Given the description of an element on the screen output the (x, y) to click on. 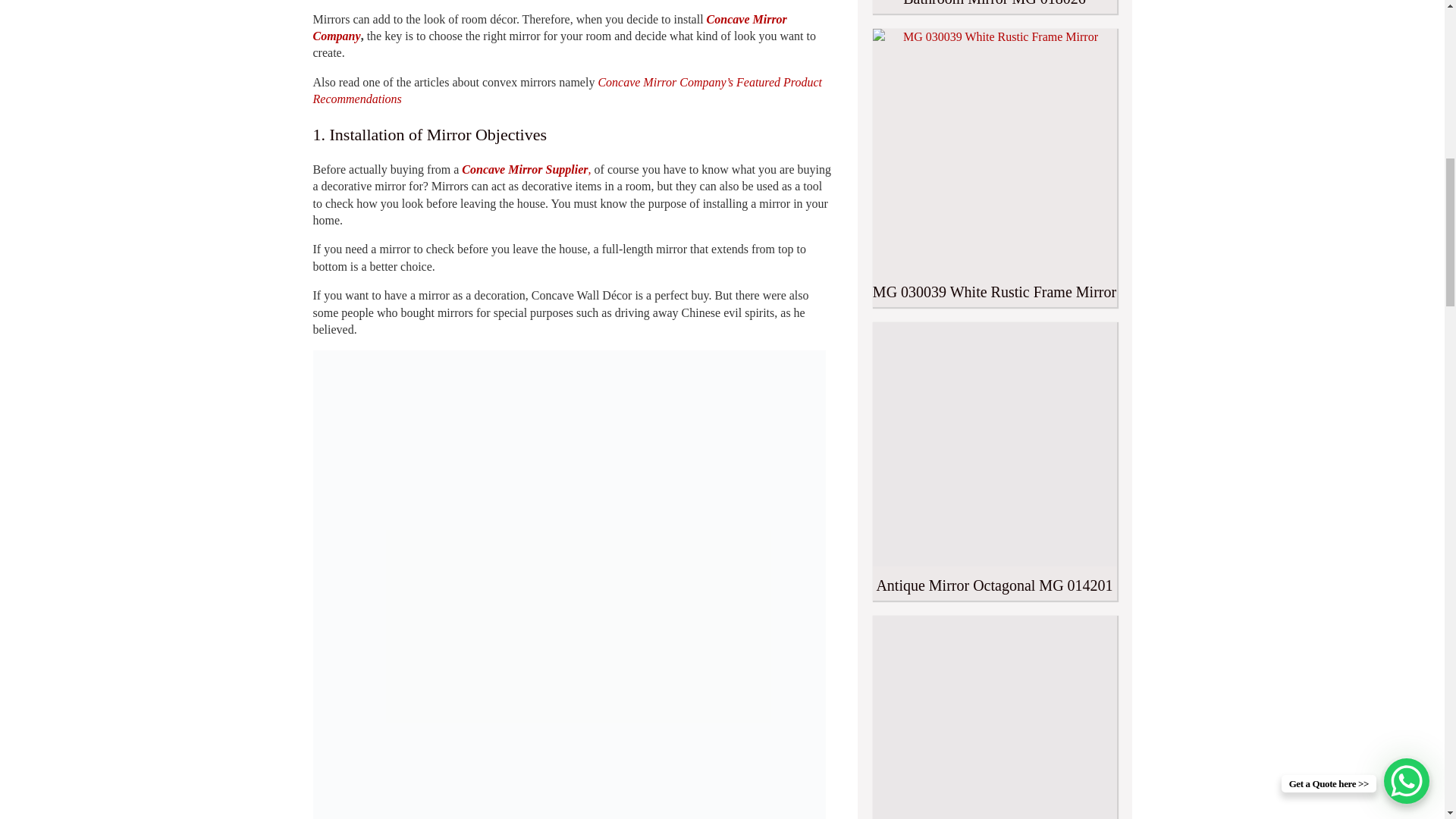
Bathroom Mirror MG 018026 (994, 6)
Concave Mirror Supplier, (526, 169)
Round Bathroom Mirror MG-018067 (994, 717)
Concave Mirror Company (549, 27)
